Given the description of an element on the screen output the (x, y) to click on. 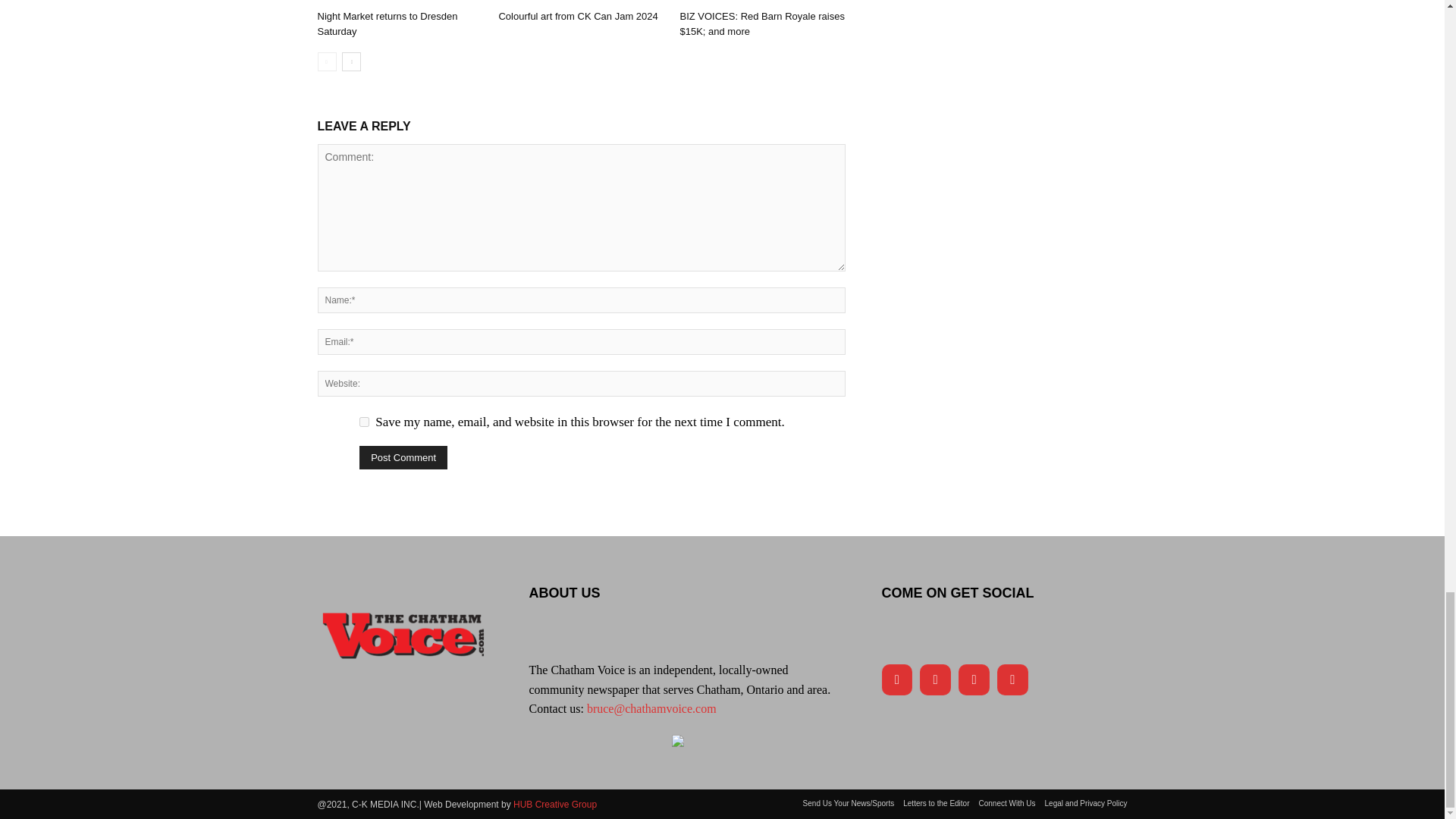
yes (364, 421)
Post Comment (402, 457)
